Given the description of an element on the screen output the (x, y) to click on. 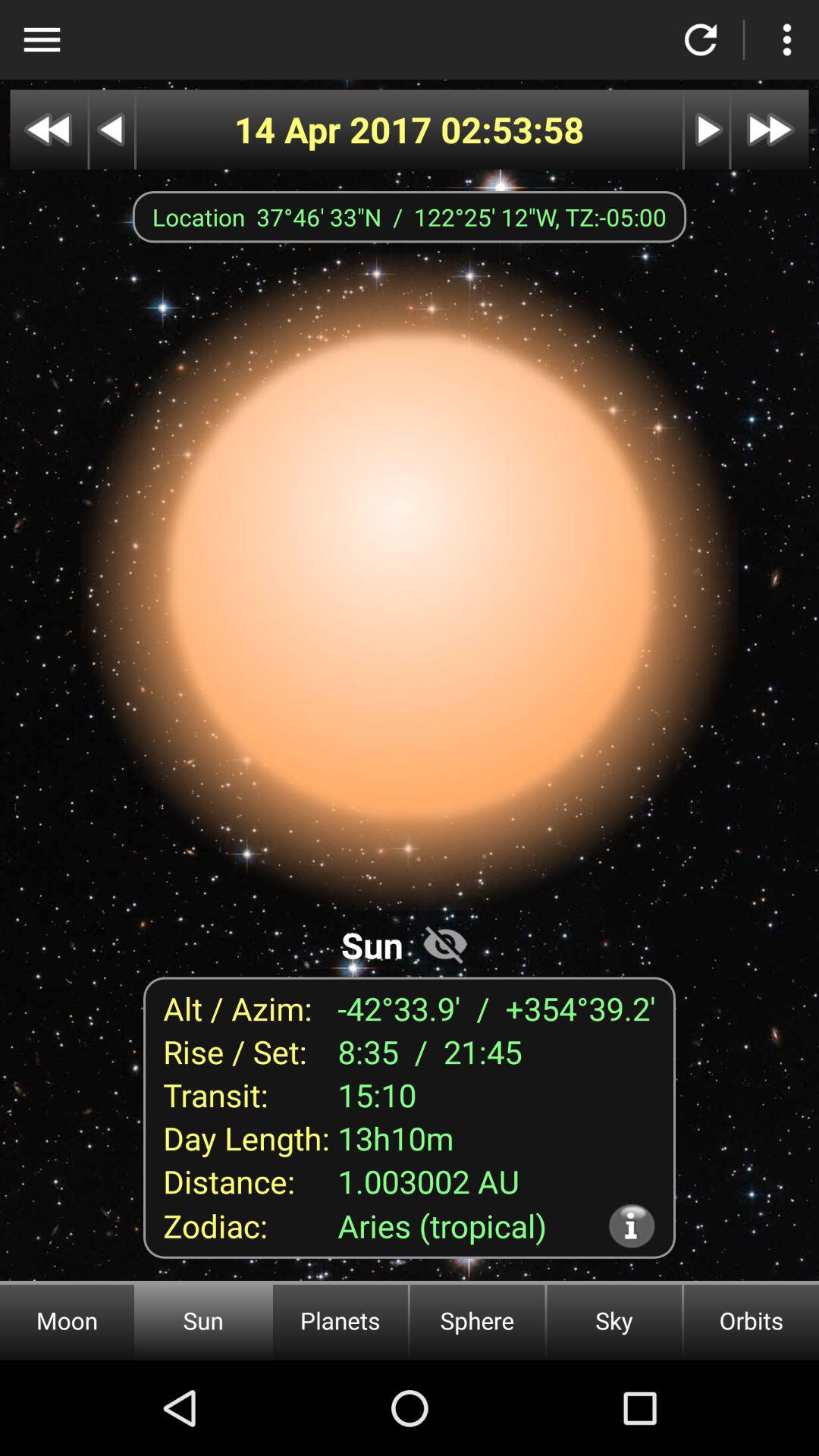
go to previous (48, 129)
